Given the description of an element on the screen output the (x, y) to click on. 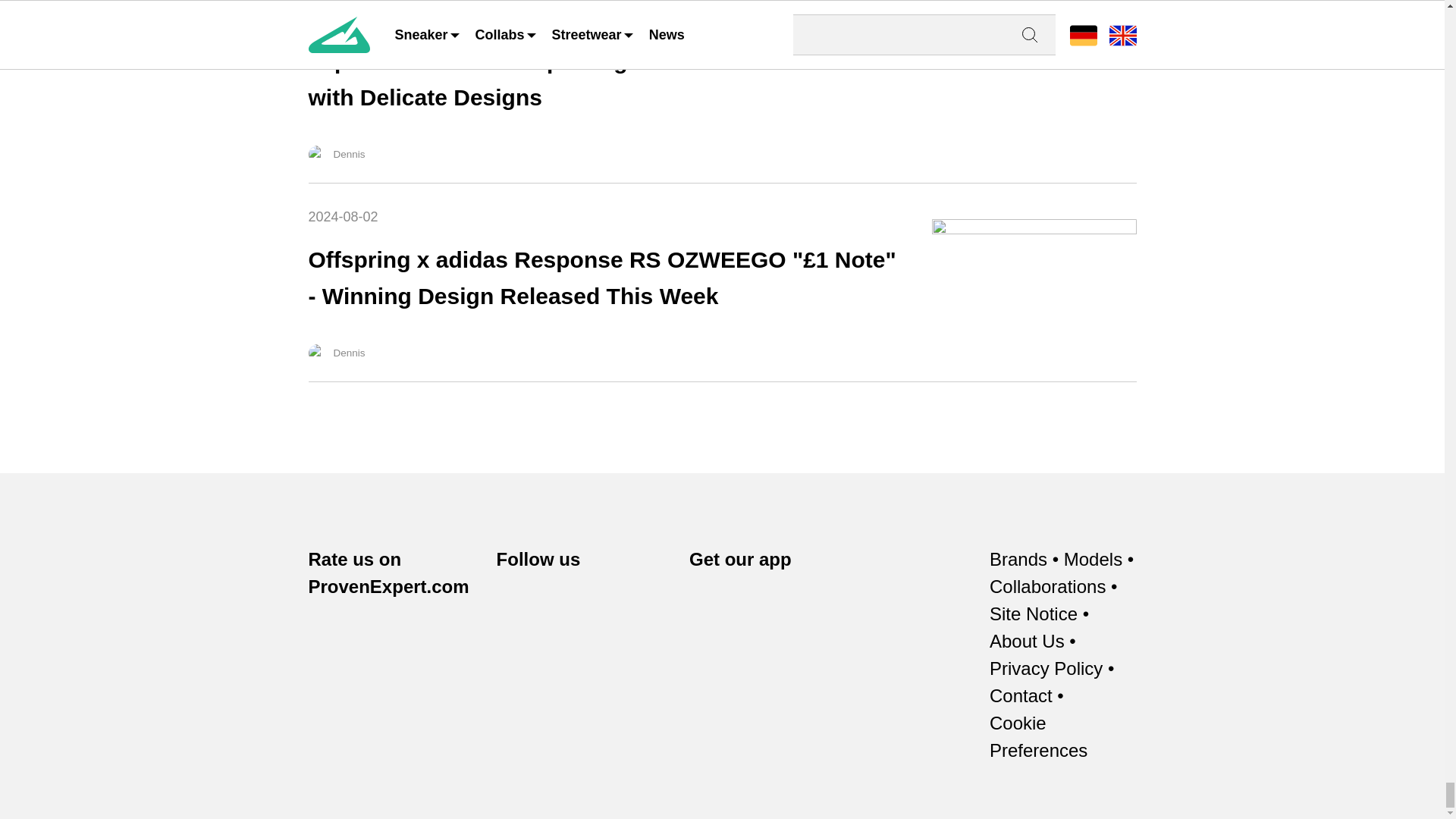
Models (1093, 559)
Site Notice (1033, 614)
Brands (1018, 559)
Privacy Policy (1046, 668)
Collaborations (1047, 586)
About Us (1027, 641)
Dennis (316, 154)
Dennis (316, 352)
Cookie Preferences (1063, 737)
Contact (1021, 696)
